Given the description of an element on the screen output the (x, y) to click on. 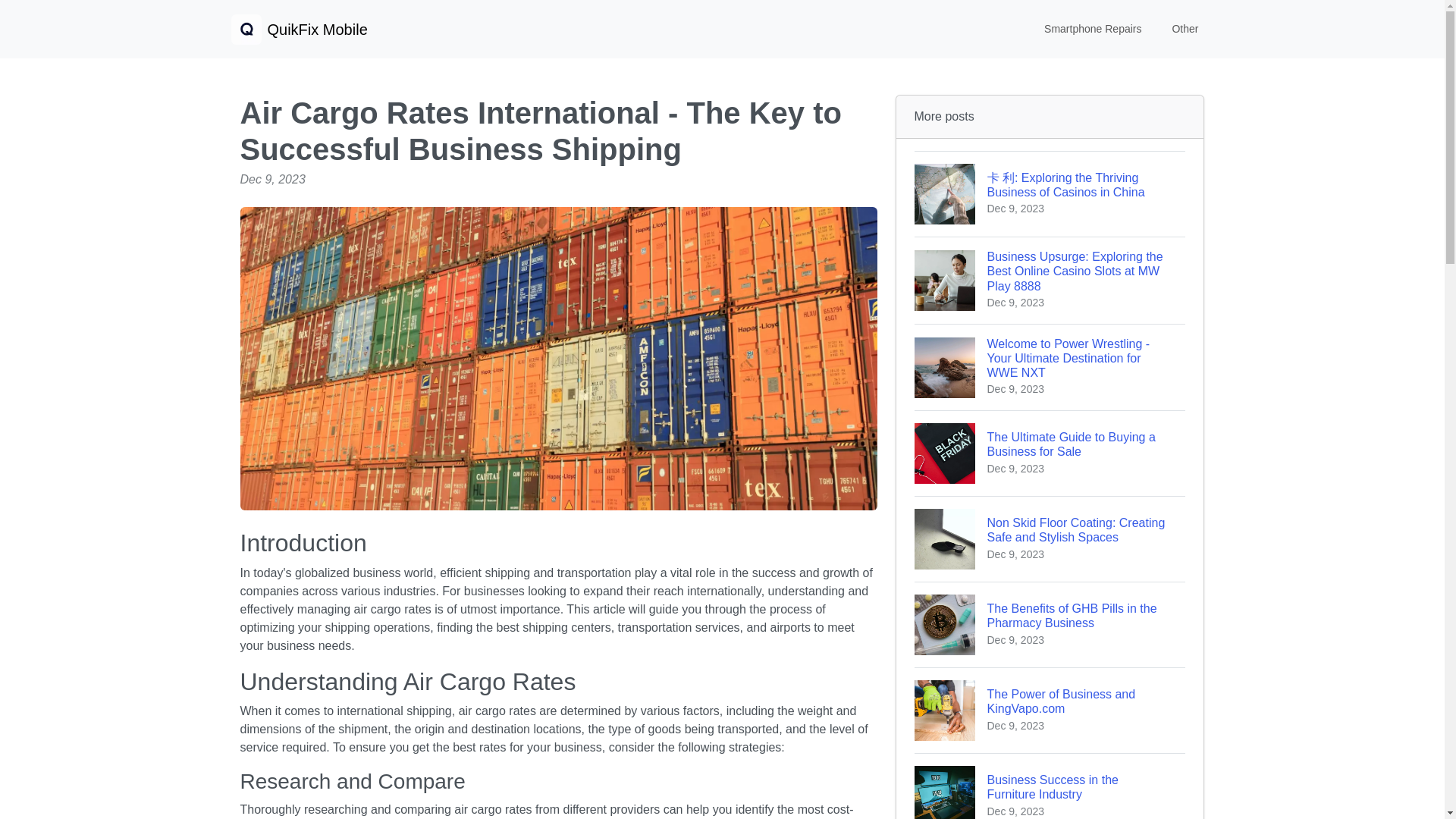
Other (1184, 29)
QuikFix Mobile (1050, 453)
Smartphone Repairs (298, 29)
